Given the description of an element on the screen output the (x, y) to click on. 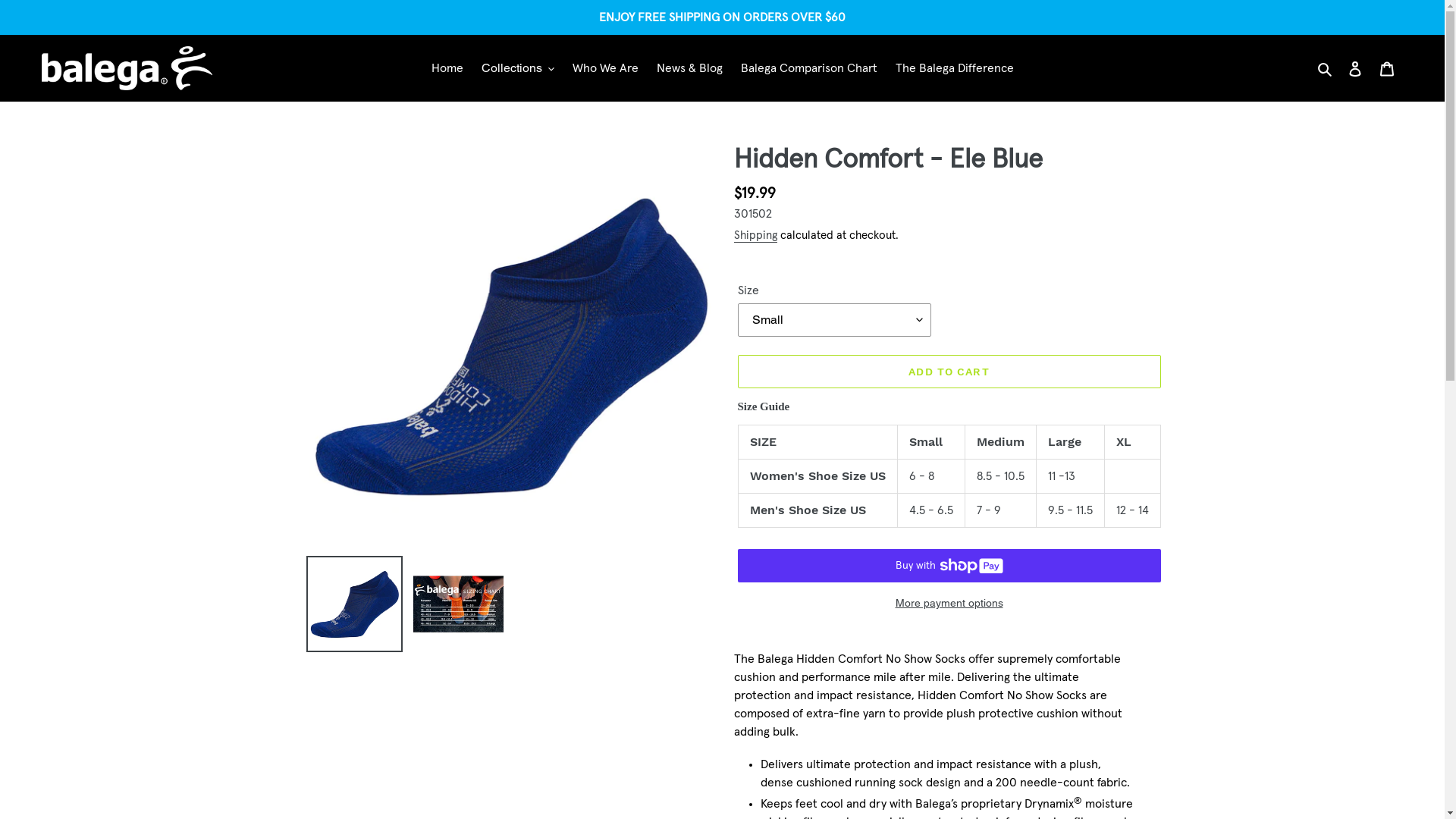
ADD TO CART Element type: text (948, 371)
Shipping Element type: text (755, 235)
Who We Are Element type: text (604, 67)
More payment options Element type: text (948, 602)
Balega Comparison Chart Element type: text (808, 67)
Cart Element type: text (1386, 67)
The Balega Difference Element type: text (953, 67)
Search Element type: text (1325, 68)
Collections Element type: text (517, 67)
Log in Element type: text (1355, 67)
News & Blog Element type: text (689, 67)
Home Element type: text (446, 67)
